Given the description of an element on the screen output the (x, y) to click on. 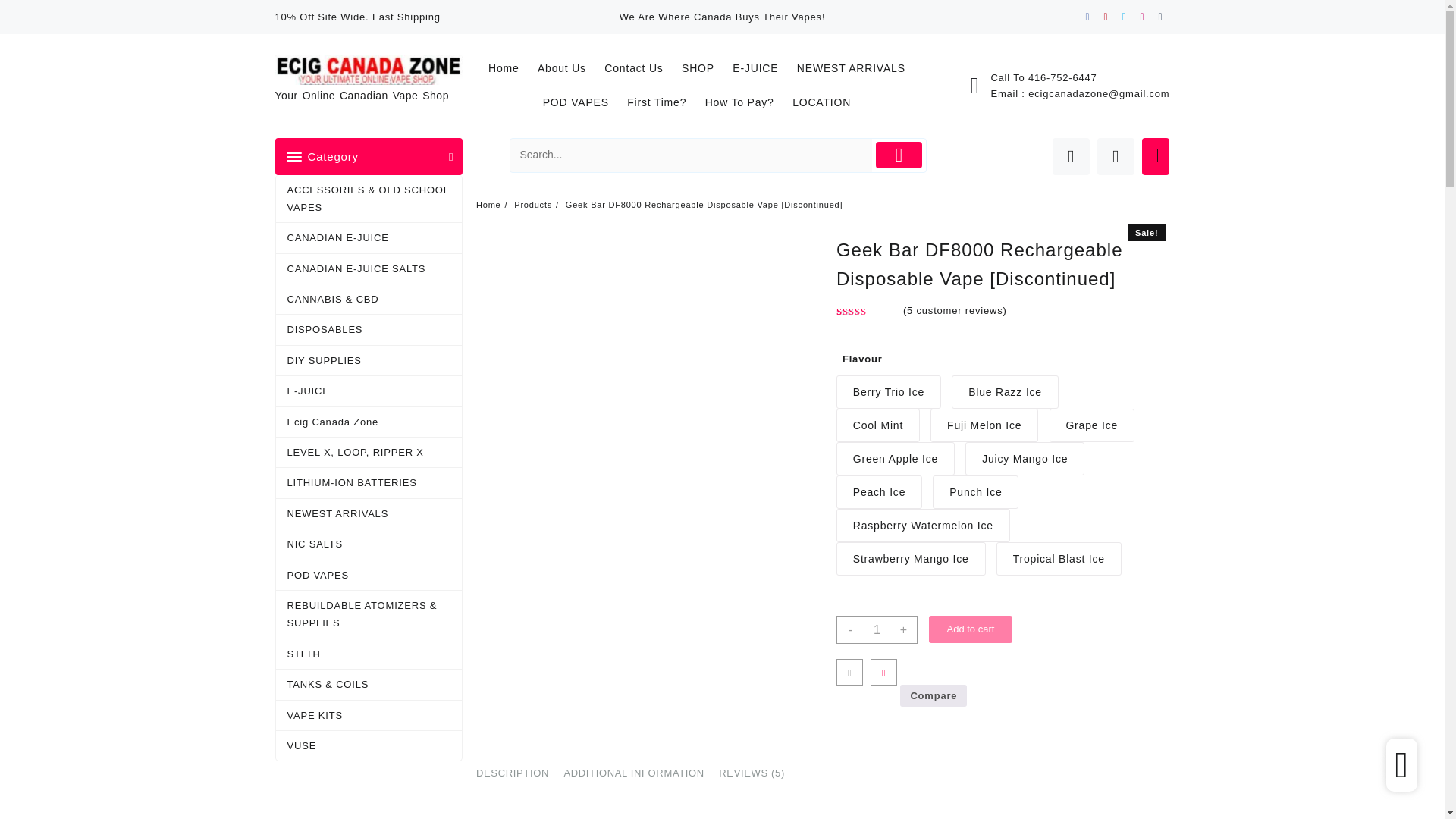
Cart (1128, 78)
About Us (445, 29)
NEWEST ARRIVALS (744, 29)
Berry Trio Ice (787, 362)
Contact Us (518, 29)
First Time? (936, 29)
Green Apple Ice (877, 400)
LOCATION (1106, 29)
Compare Product (1085, 77)
E-JUICE (644, 29)
